Given the description of an element on the screen output the (x, y) to click on. 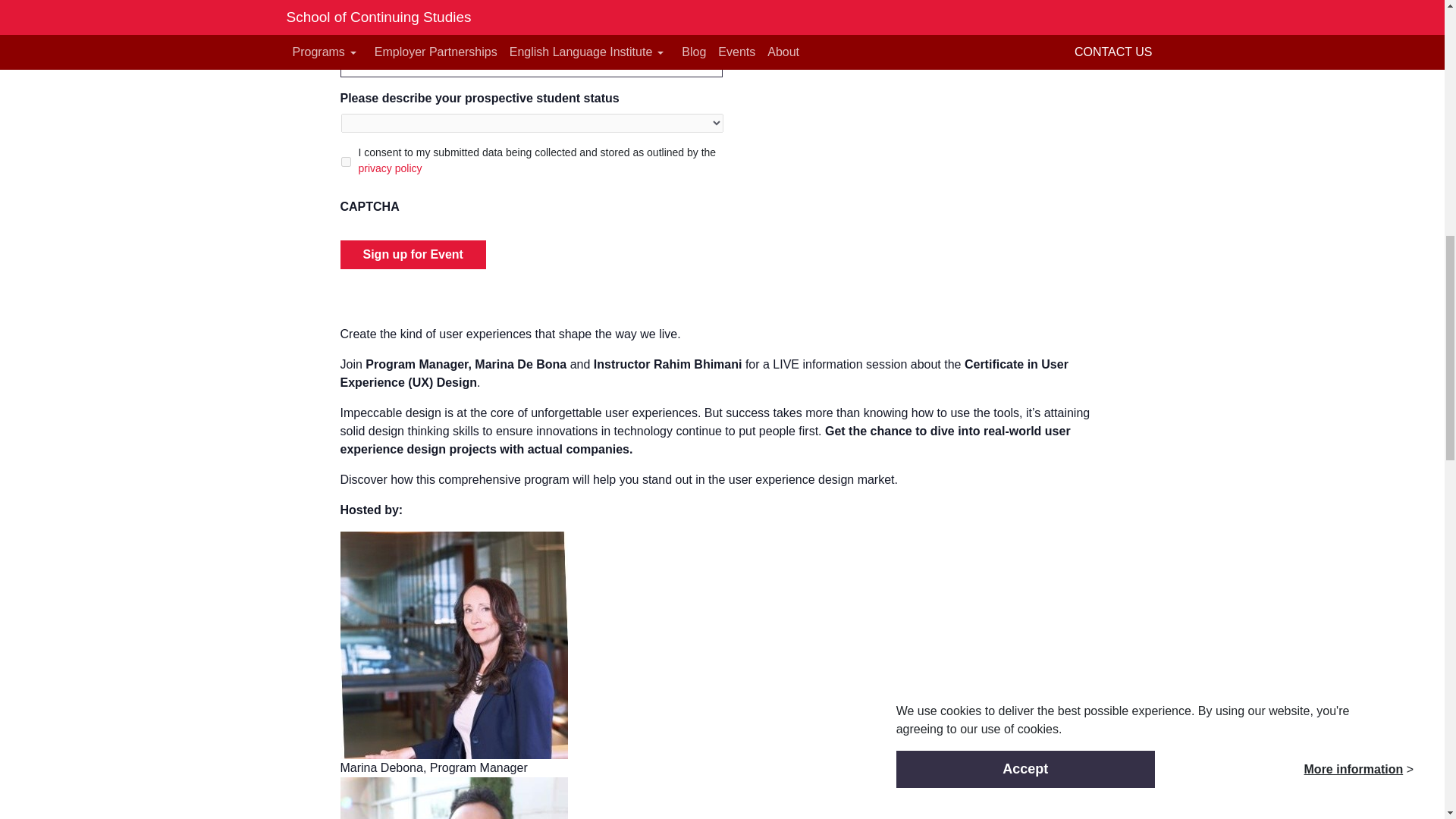
Sign up for Event (411, 254)
